Given the description of an element on the screen output the (x, y) to click on. 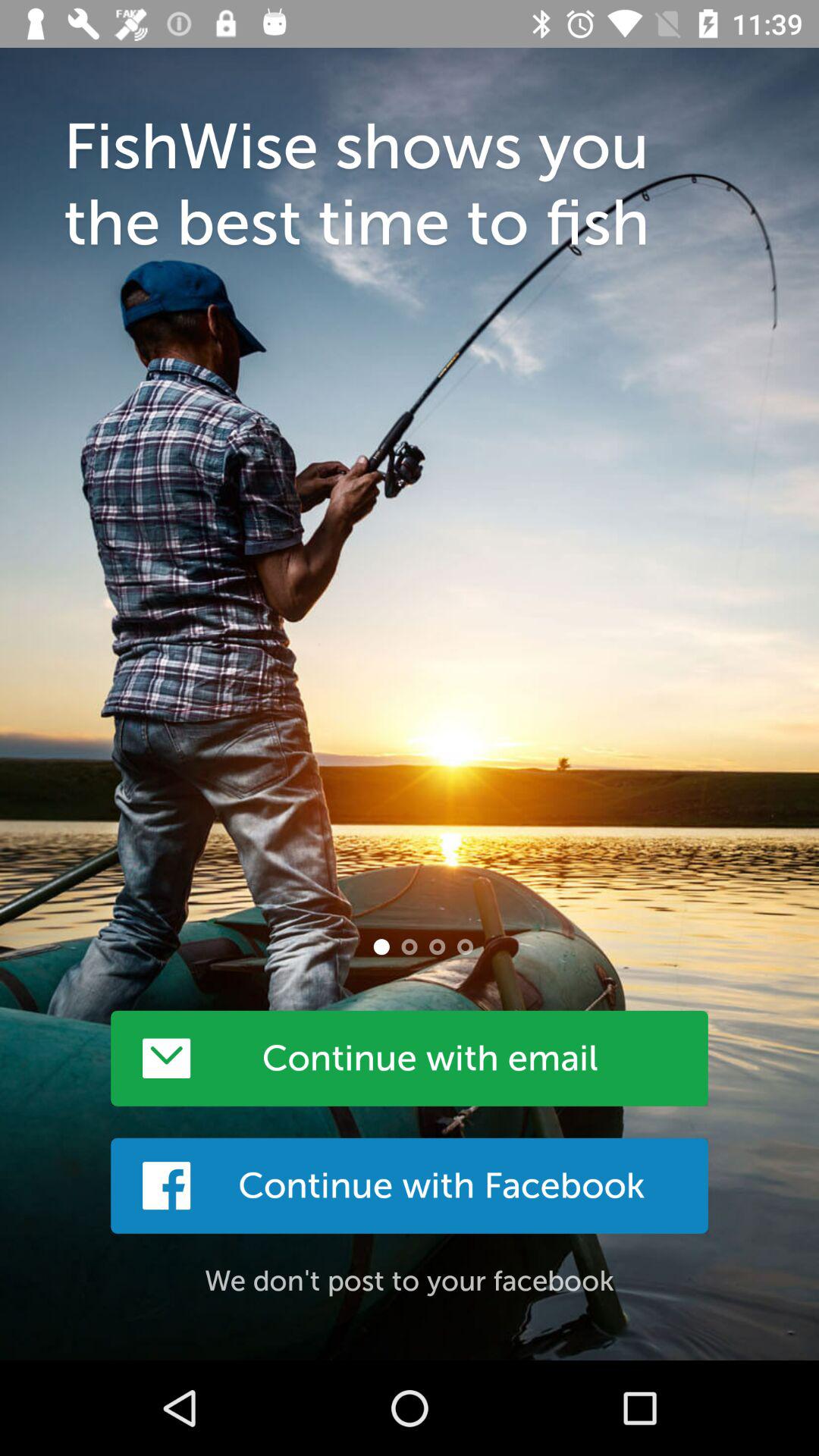
go to next slide (409, 946)
